Given the description of an element on the screen output the (x, y) to click on. 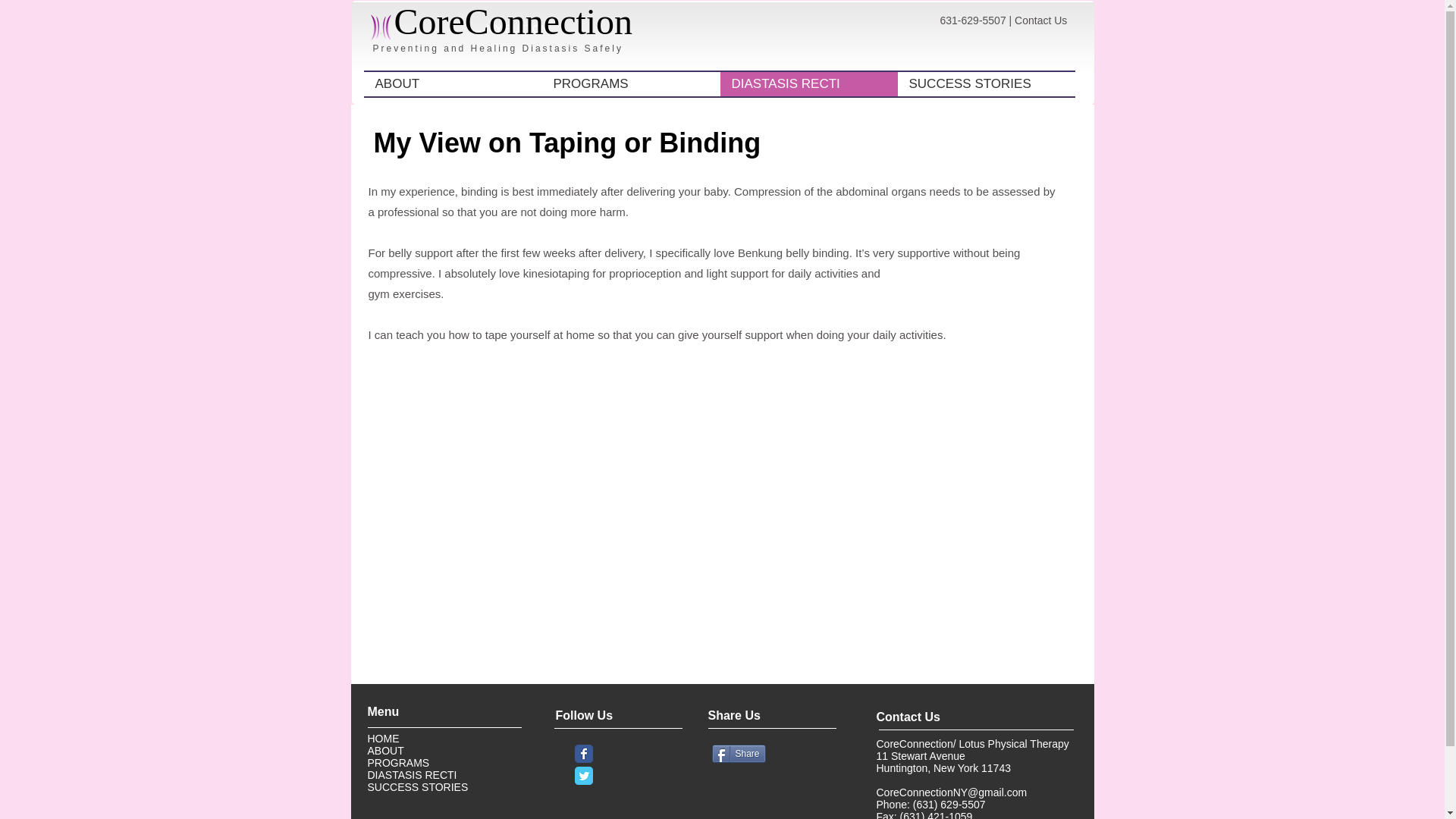
PROGRAMS (630, 84)
SUCCESS STORIES (986, 84)
Contact Us (1040, 20)
Share (738, 753)
MY BUTTON (517, 29)
Share (738, 753)
Preventing and Healing Diastasis Safely (497, 48)
ABOUT (384, 750)
DIASTASIS RECTI  (413, 775)
SUCCESS STORIES (416, 787)
DIASTASIS RECTI (809, 84)
CoreConnection (513, 21)
ABOUT (452, 84)
PROGRAMS  (399, 762)
